Given the description of an element on the screen output the (x, y) to click on. 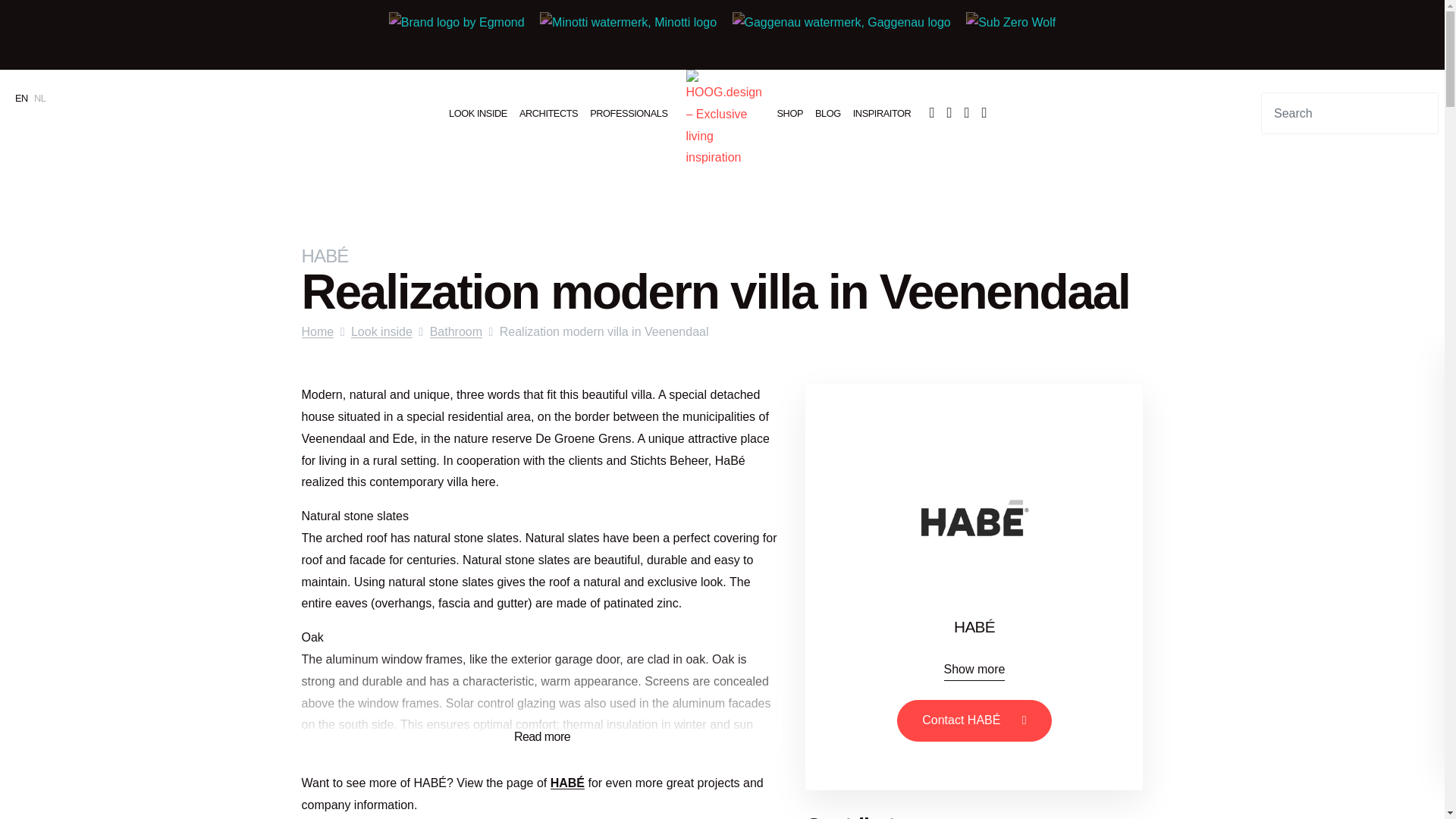
Inspiraitor (882, 112)
ARCHITECTS (548, 112)
Professionals (627, 112)
Look inside (477, 112)
Blog (828, 112)
Architects (548, 112)
Shop (789, 112)
PROFESSIONALS (627, 112)
LOOK INSIDE (477, 112)
